Given the description of an element on the screen output the (x, y) to click on. 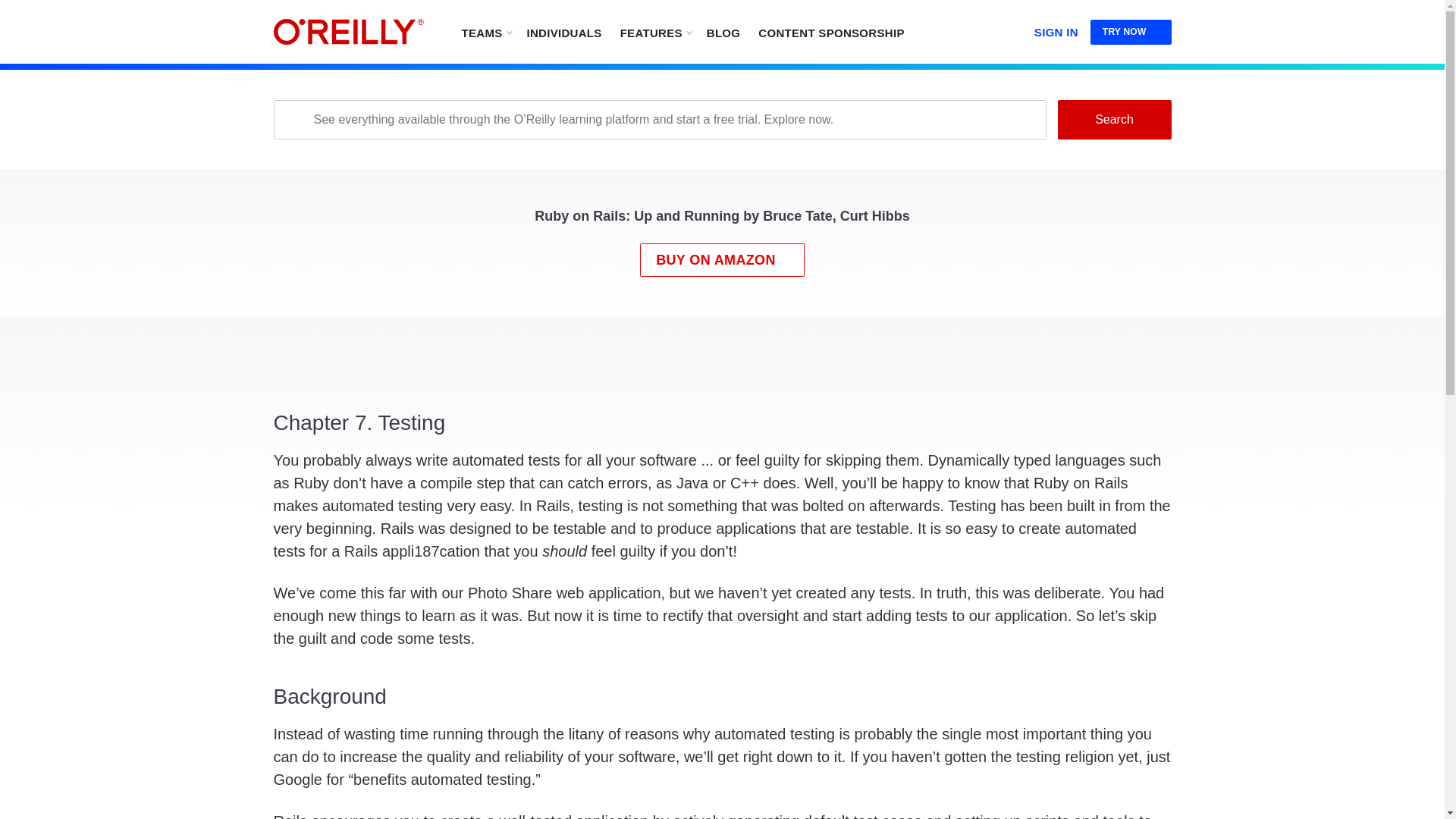
Ruby on Rails: Up and Running by Bruce Tate, Curt Hibbs (722, 219)
BLOG (723, 31)
TRY NOW (1131, 32)
Background (721, 750)
SIGN IN (1055, 29)
home page (348, 31)
BUY ON AMAZON (722, 259)
CONTENT SPONSORSHIP (831, 31)
TEAMS (486, 31)
